Given the description of an element on the screen output the (x, y) to click on. 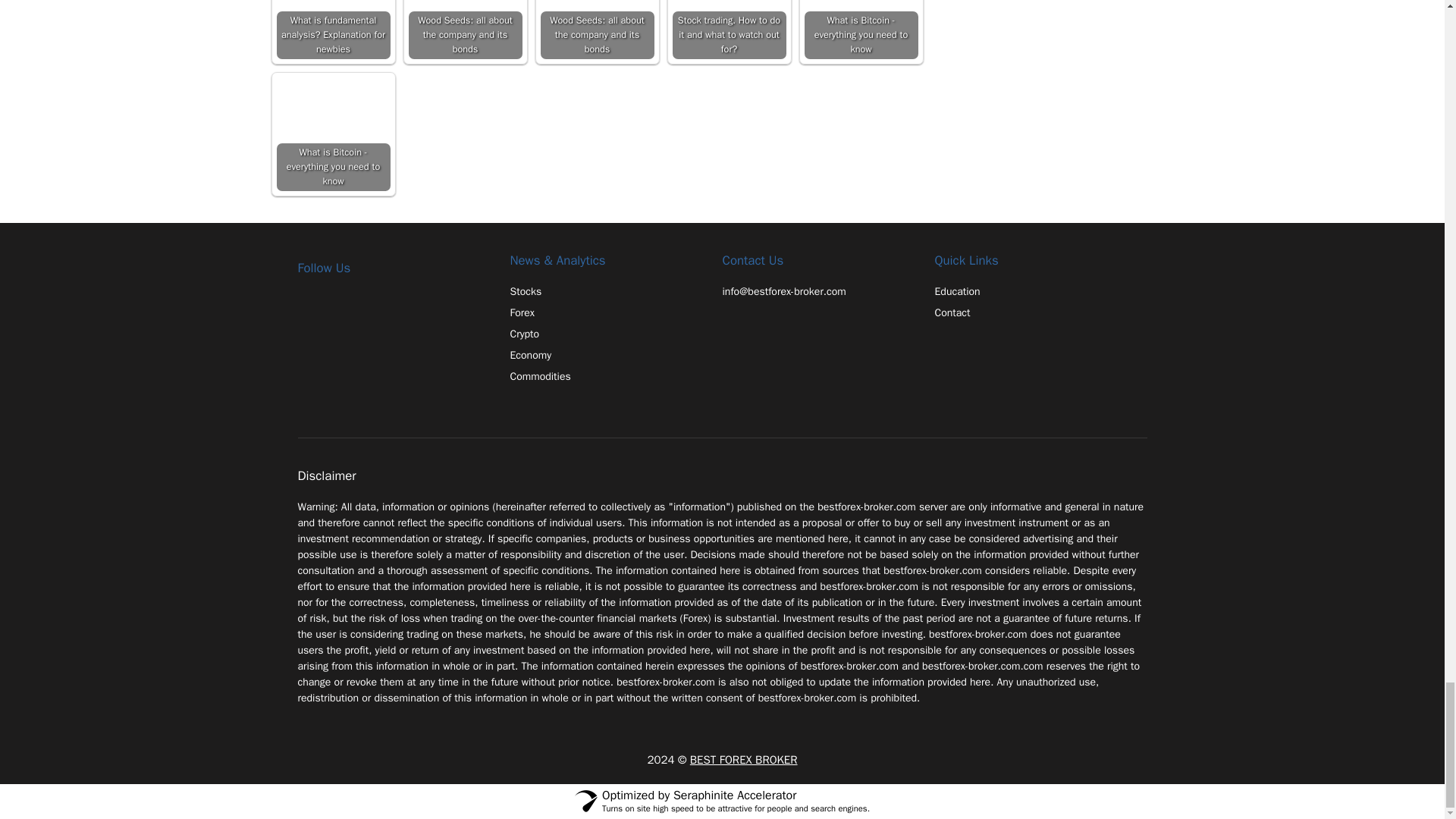
Stock trading. How to do it and what to watch out for? (728, 29)
Wood Seeds: all about the company and its bonds (464, 29)
What is Bitcoin - everything you need to know (860, 29)
What is Bitcoin - everything you need to know (333, 133)
What is fundamental analysis? Explanation for newbies (333, 29)
What is fundamental analysis? Explanation for newbies (333, 29)
Wood Seeds: all about the company and its bonds (596, 29)
Wood Seeds: all about the company and its bonds (464, 29)
